Given the description of an element on the screen output the (x, y) to click on. 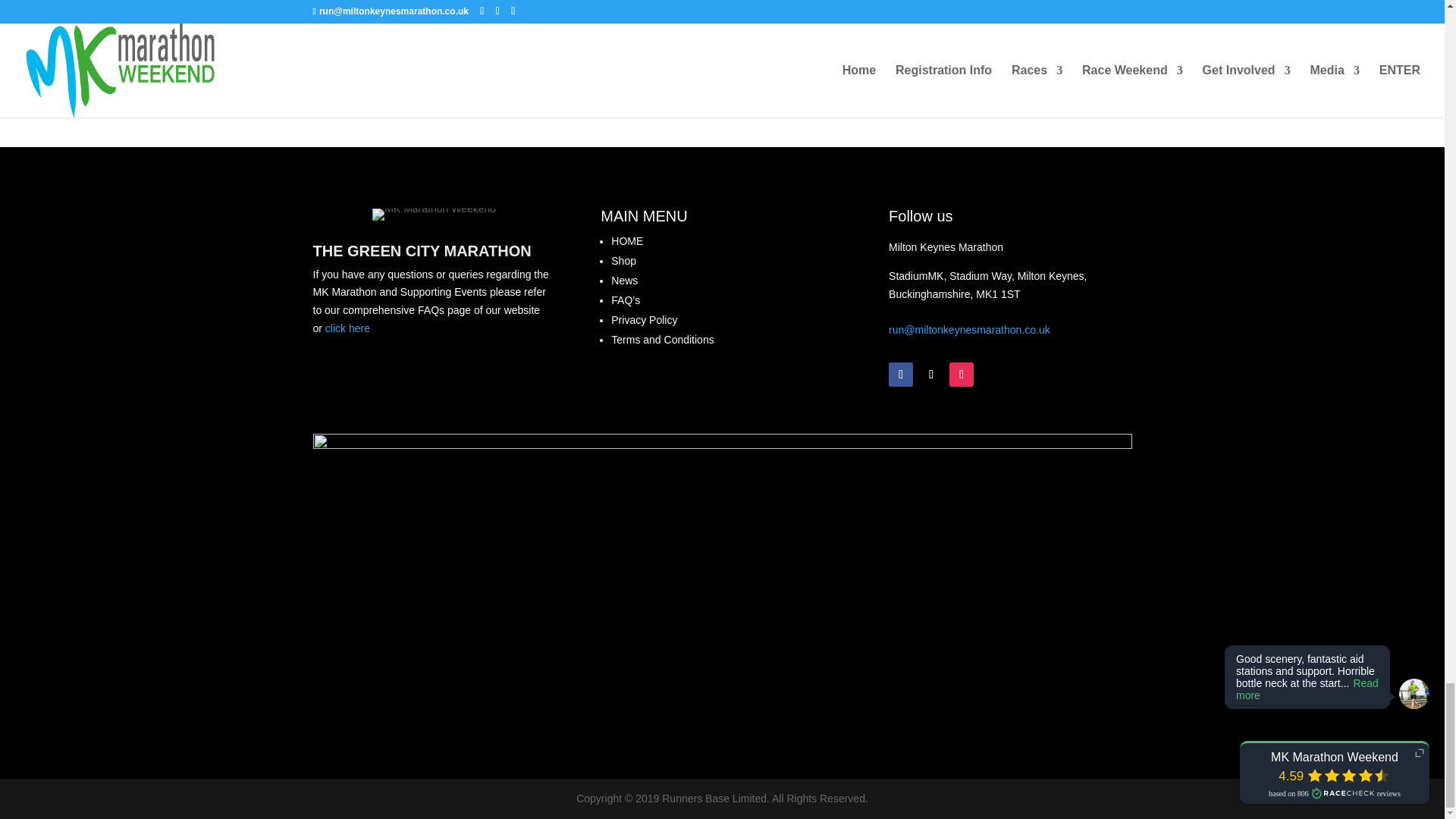
Follow on Facebook (900, 374)
MKM Logo White (434, 214)
